Given the description of an element on the screen output the (x, y) to click on. 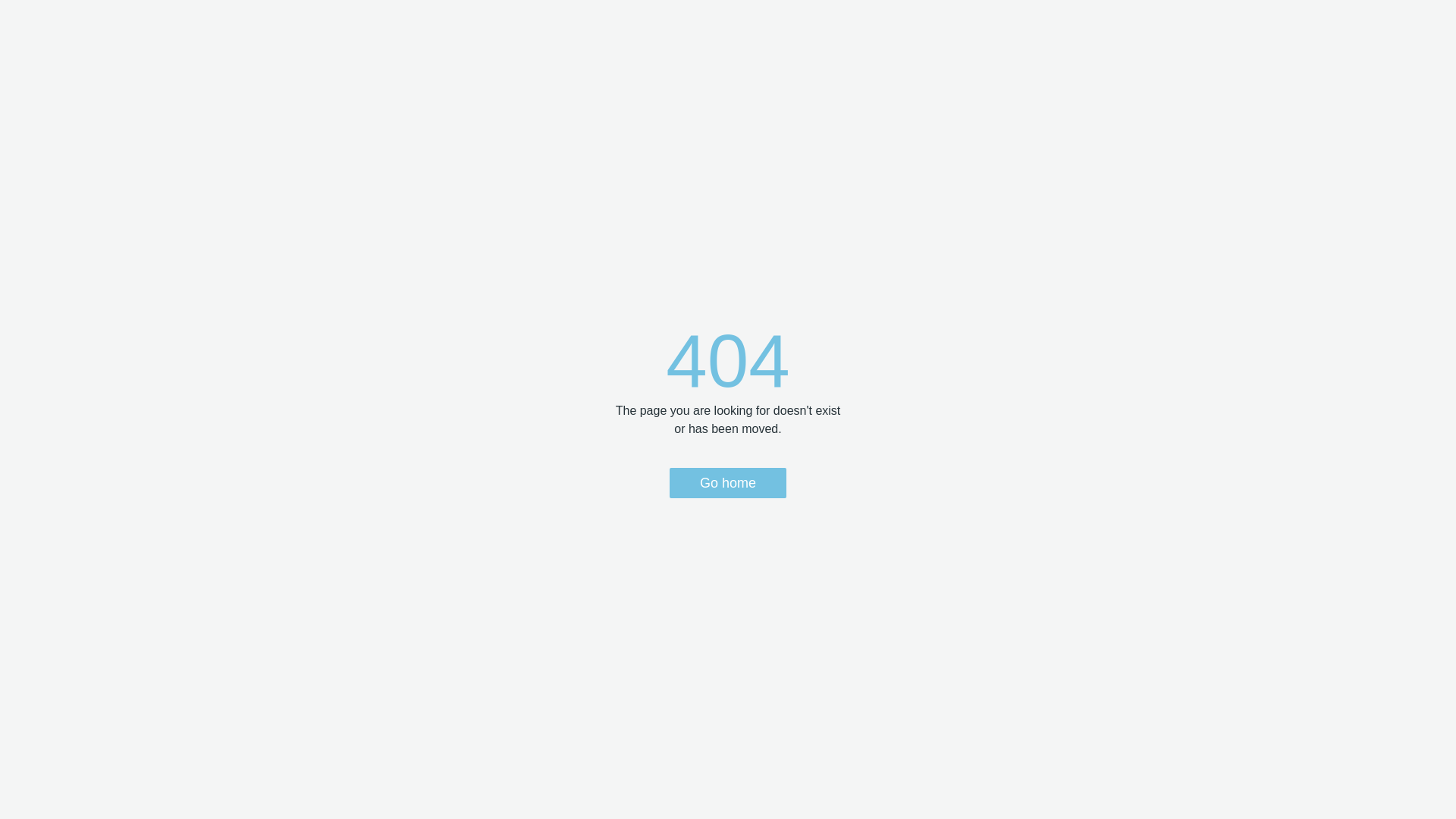
Go home Element type: text (727, 482)
